Given the description of an element on the screen output the (x, y) to click on. 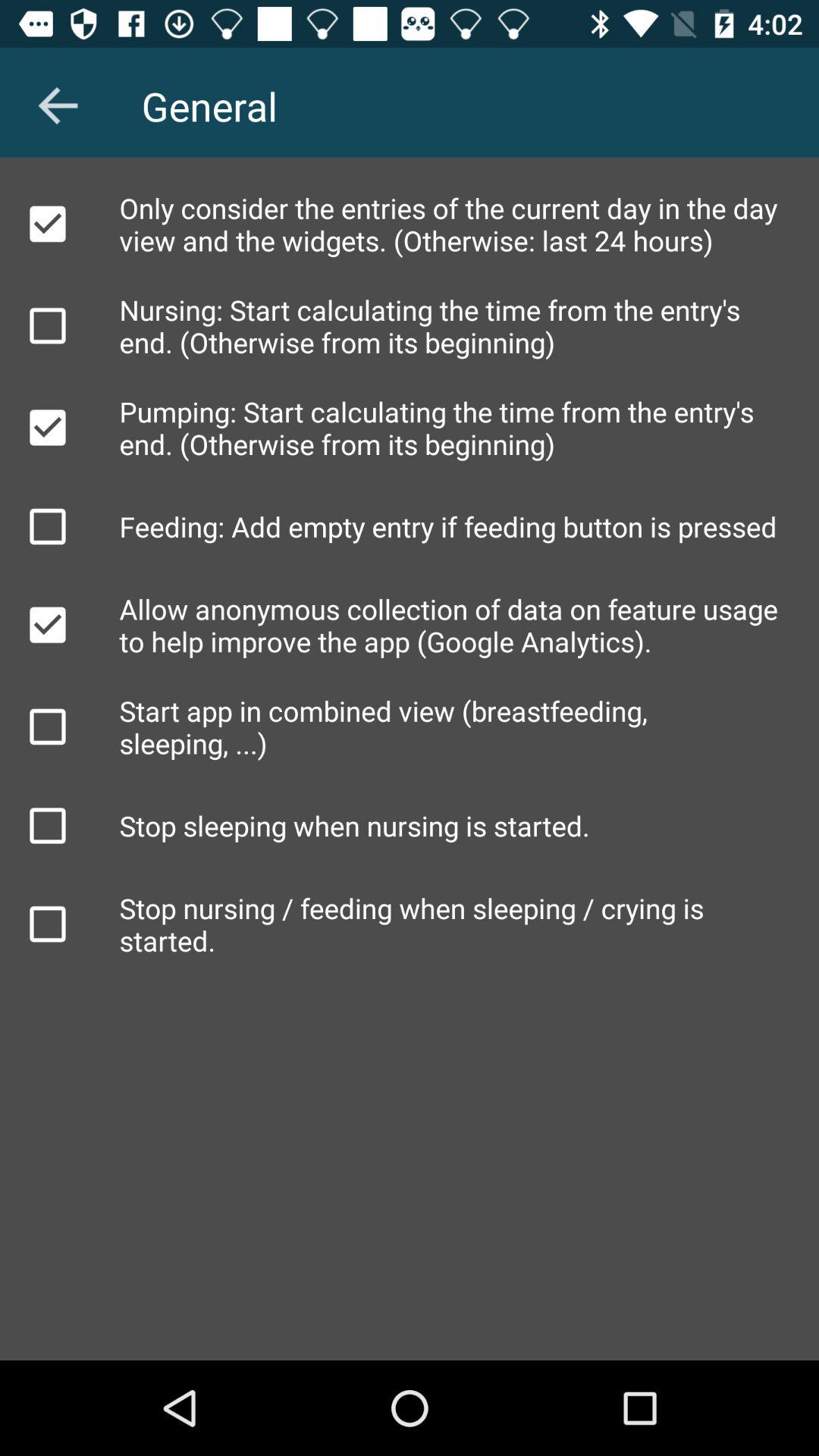
select nursing results (47, 325)
